Given the description of an element on the screen output the (x, y) to click on. 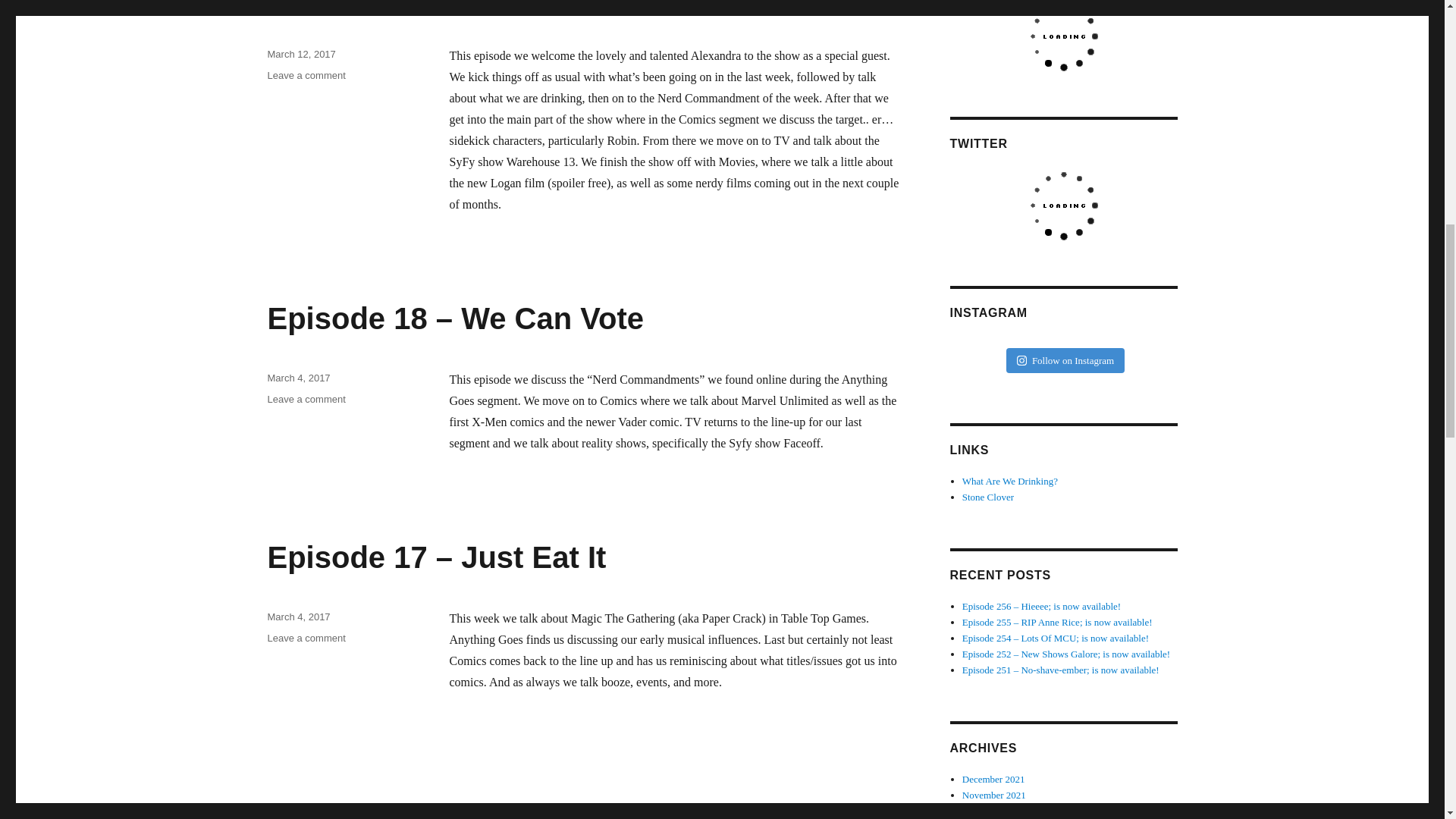
March 12, 2017 (300, 53)
Stone Clover (987, 496)
March 4, 2017 (298, 616)
Follow on Instagram (305, 75)
What Are We Drinking? (1065, 360)
March 4, 2017 (1010, 480)
Episode 19 has been published! (298, 378)
